Given the description of an element on the screen output the (x, y) to click on. 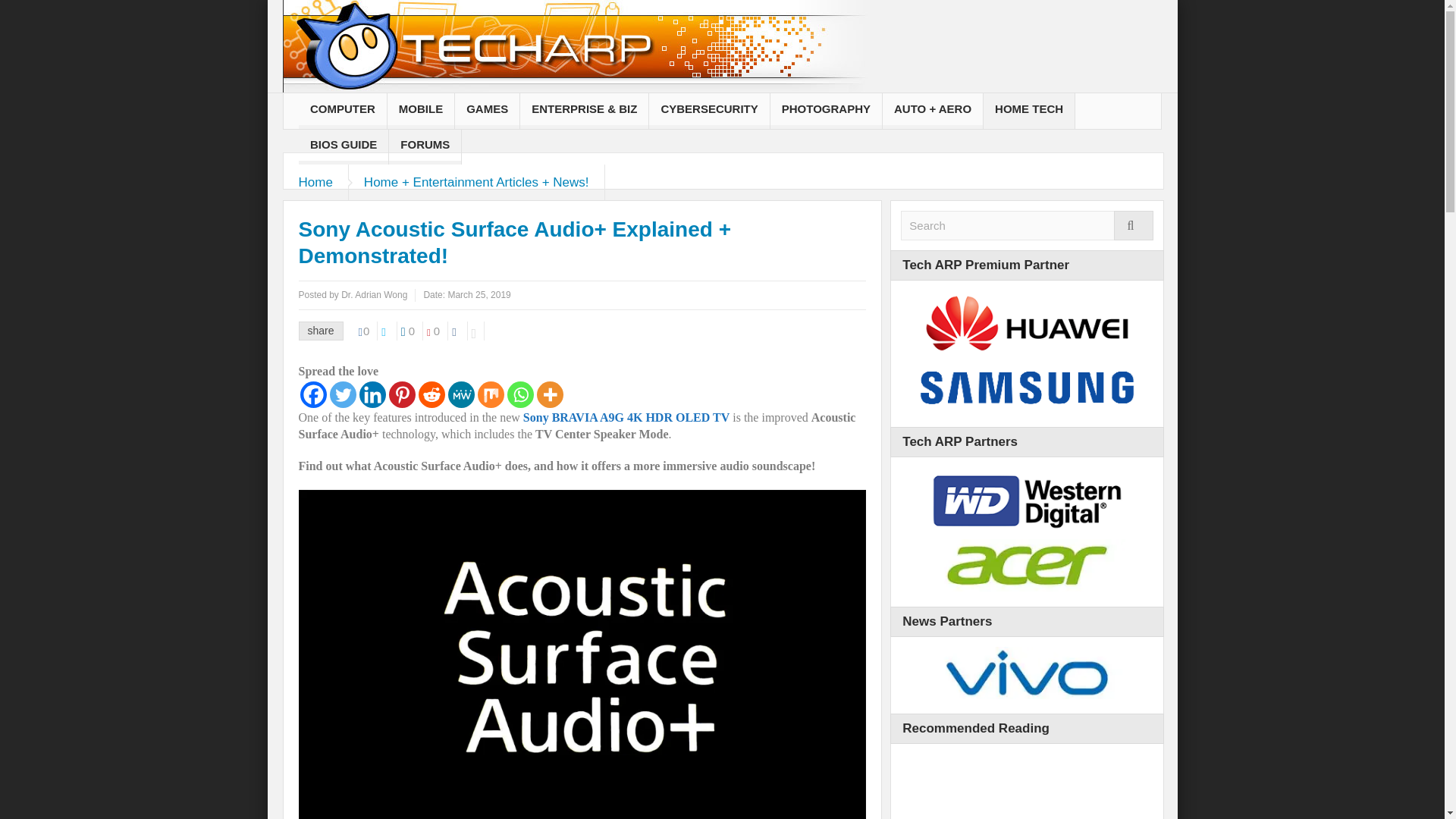
Facebook (312, 394)
0 (437, 330)
More (550, 394)
HOME TECH (1029, 110)
MeWe (460, 394)
BIOS GUIDE (343, 146)
Reddit (432, 394)
Dr. Adrian Wong (373, 294)
FORUMS (424, 146)
GAMES (486, 110)
MOBILE (420, 110)
Search (1027, 225)
Twitter (342, 394)
0 (412, 330)
Linkedin (372, 394)
